Given the description of an element on the screen output the (x, y) to click on. 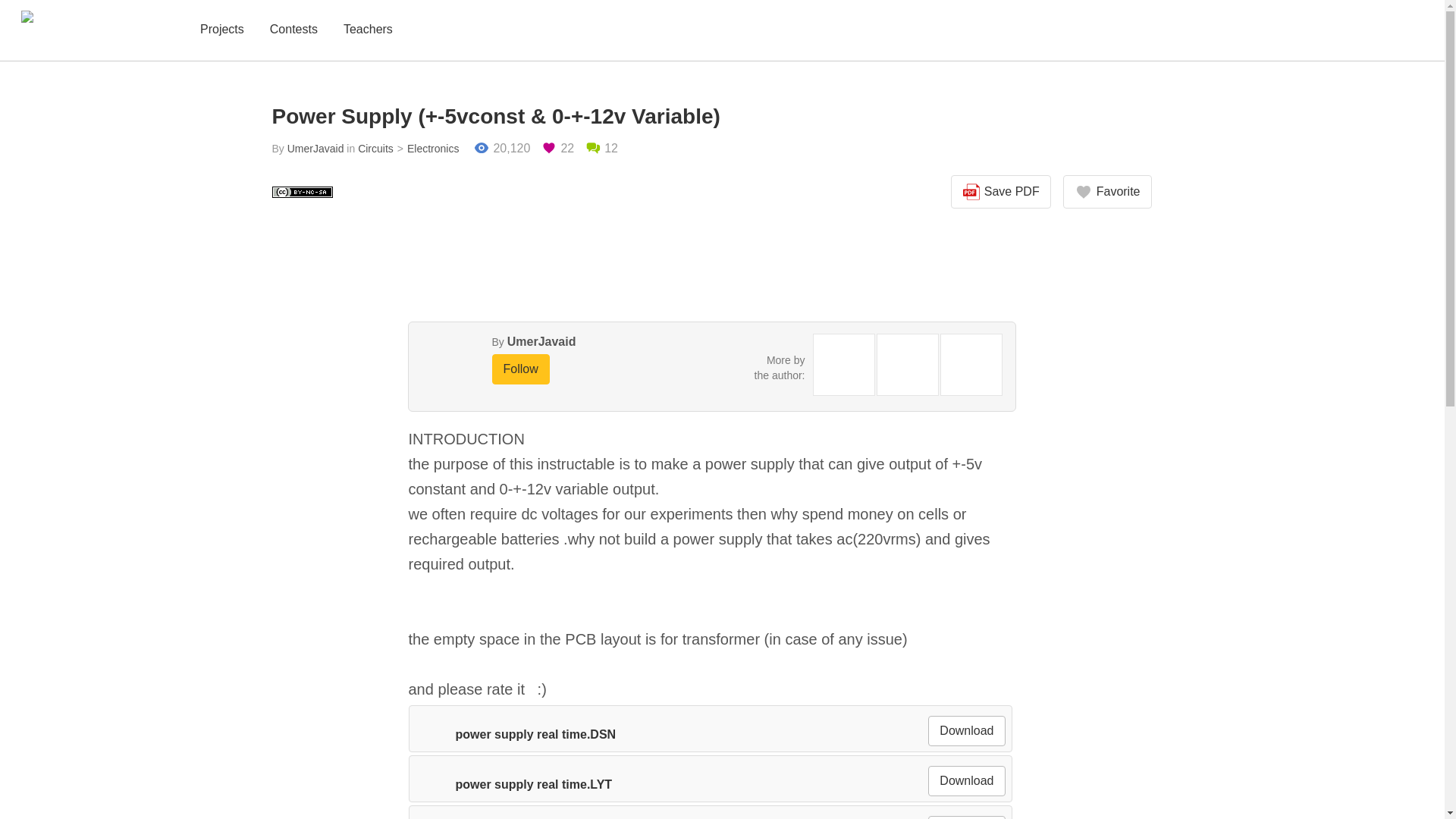
Follow (520, 368)
Electronics (426, 148)
Download (966, 730)
power supply real time.LYT (512, 784)
UmerJavaid (541, 341)
Circuits (375, 148)
UmerJavaid (314, 148)
Projects (221, 30)
Contests (293, 30)
12 (601, 148)
